Given the description of an element on the screen output the (x, y) to click on. 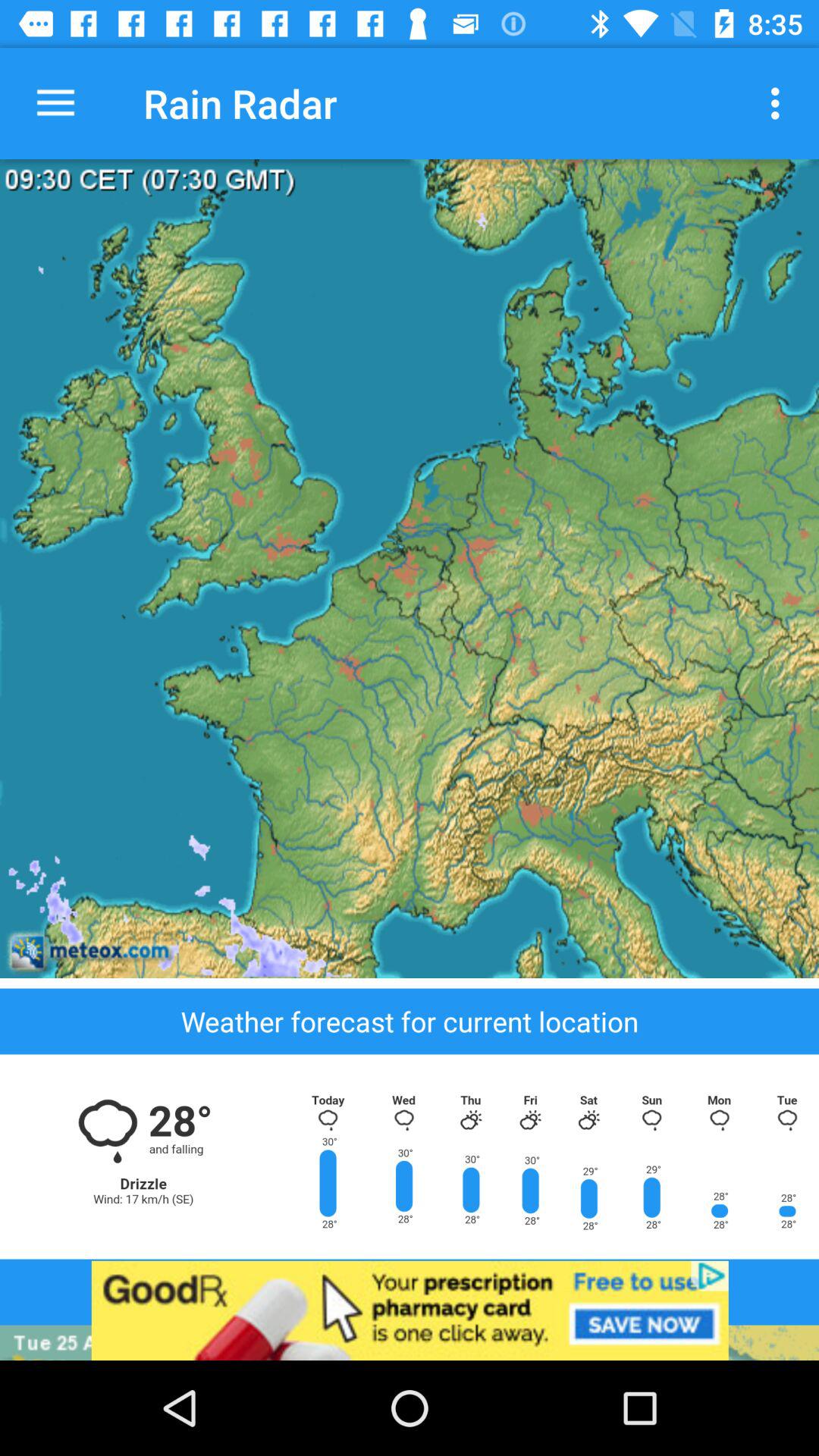
see weather forecast (409, 1156)
